Given the description of an element on the screen output the (x, y) to click on. 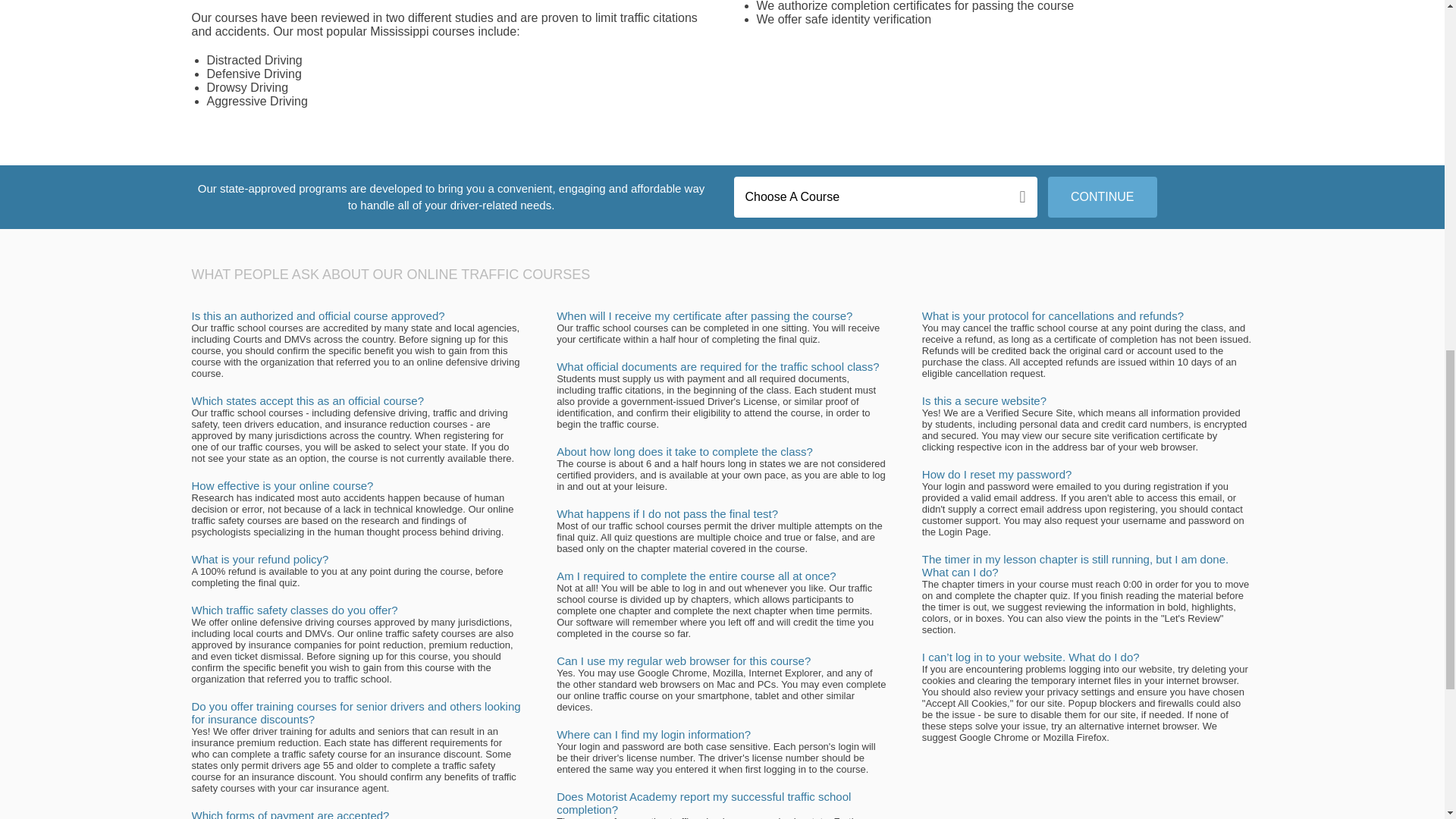
Continue (1102, 196)
Continue (1102, 196)
